Given the description of an element on the screen output the (x, y) to click on. 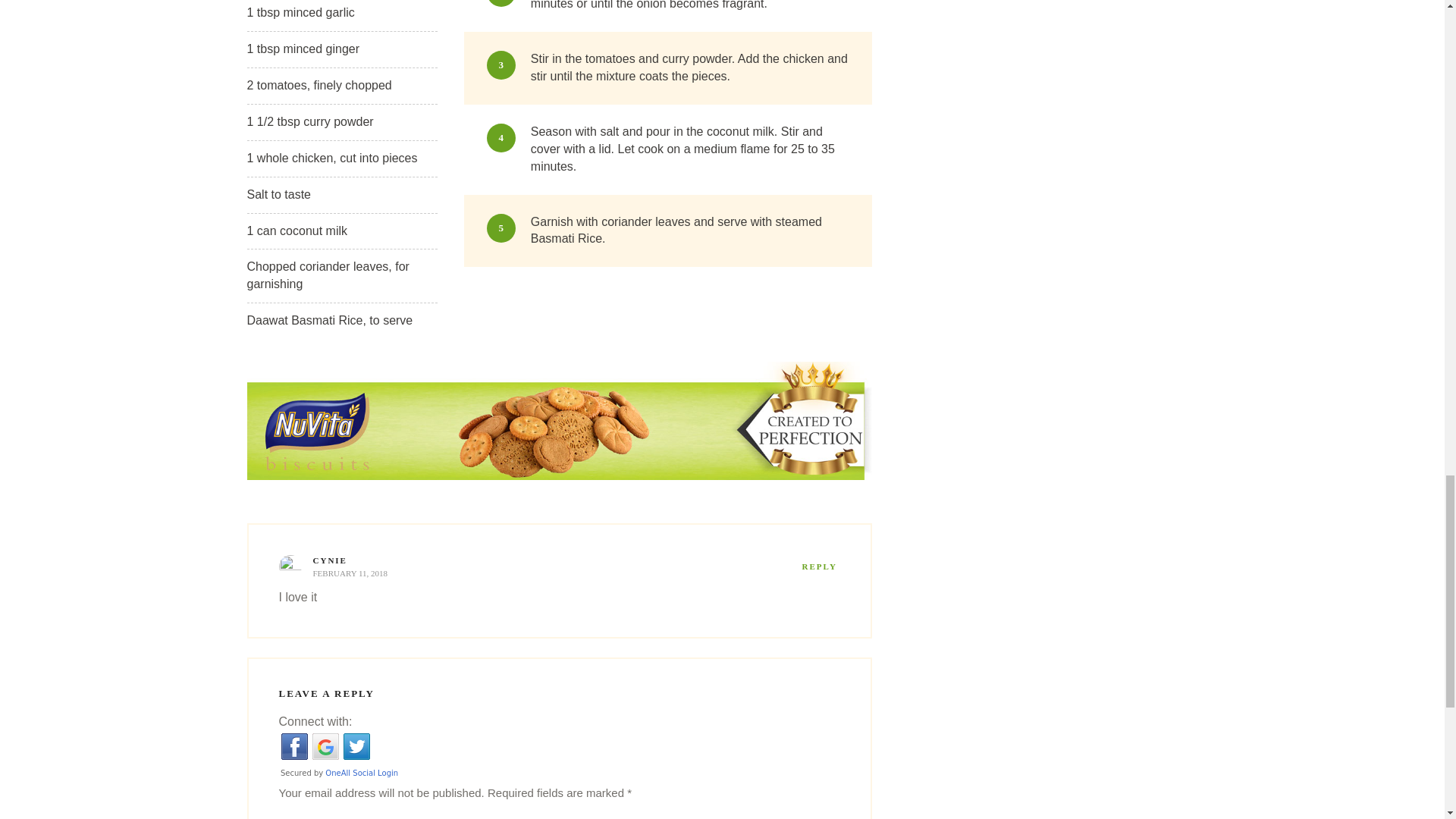
Login with Social Networks (559, 756)
